Given the description of an element on the screen output the (x, y) to click on. 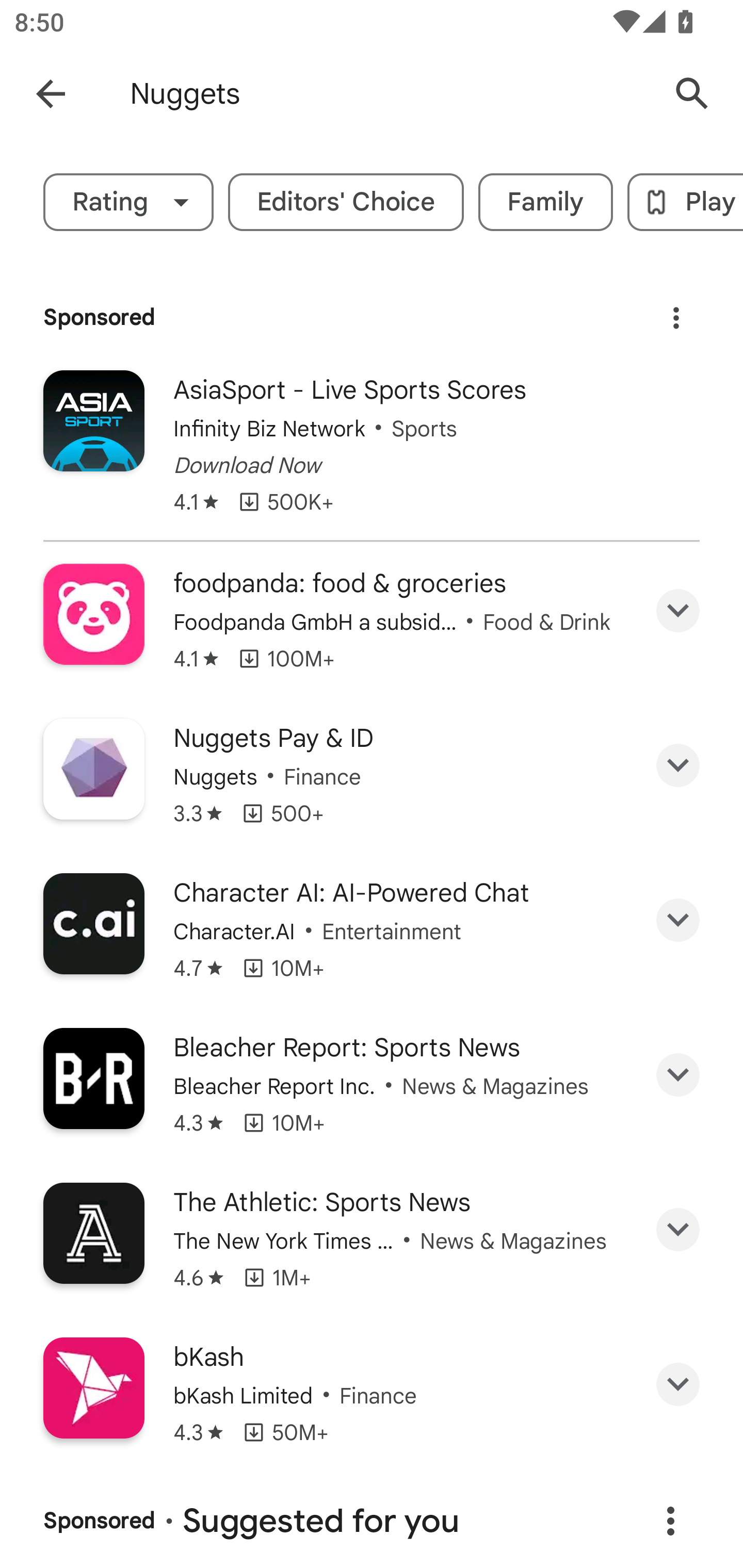
Nuggets (389, 93)
Navigate up (50, 93)
Search Google Play (692, 93)
Rating - double tap to change the filter (128, 202)
Editors' Choice - double tap to toggle the filter (345, 202)
Family - double tap to toggle the filter (545, 202)
Play Pass - double tap to toggle the filter (685, 202)
About this ad (676, 311)
Expand content for foodpanda: food & groceries (677, 610)
Expand content for Nuggets Pay & ID (677, 765)
Expand content for Character AI: AI-Powered Chat (677, 919)
Expand content for Bleacher Report: Sports News (677, 1074)
Expand content for The Athletic: Sports News (677, 1229)
Expand content for bKash (677, 1384)
About this ad (670, 1520)
